Given the description of an element on the screen output the (x, y) to click on. 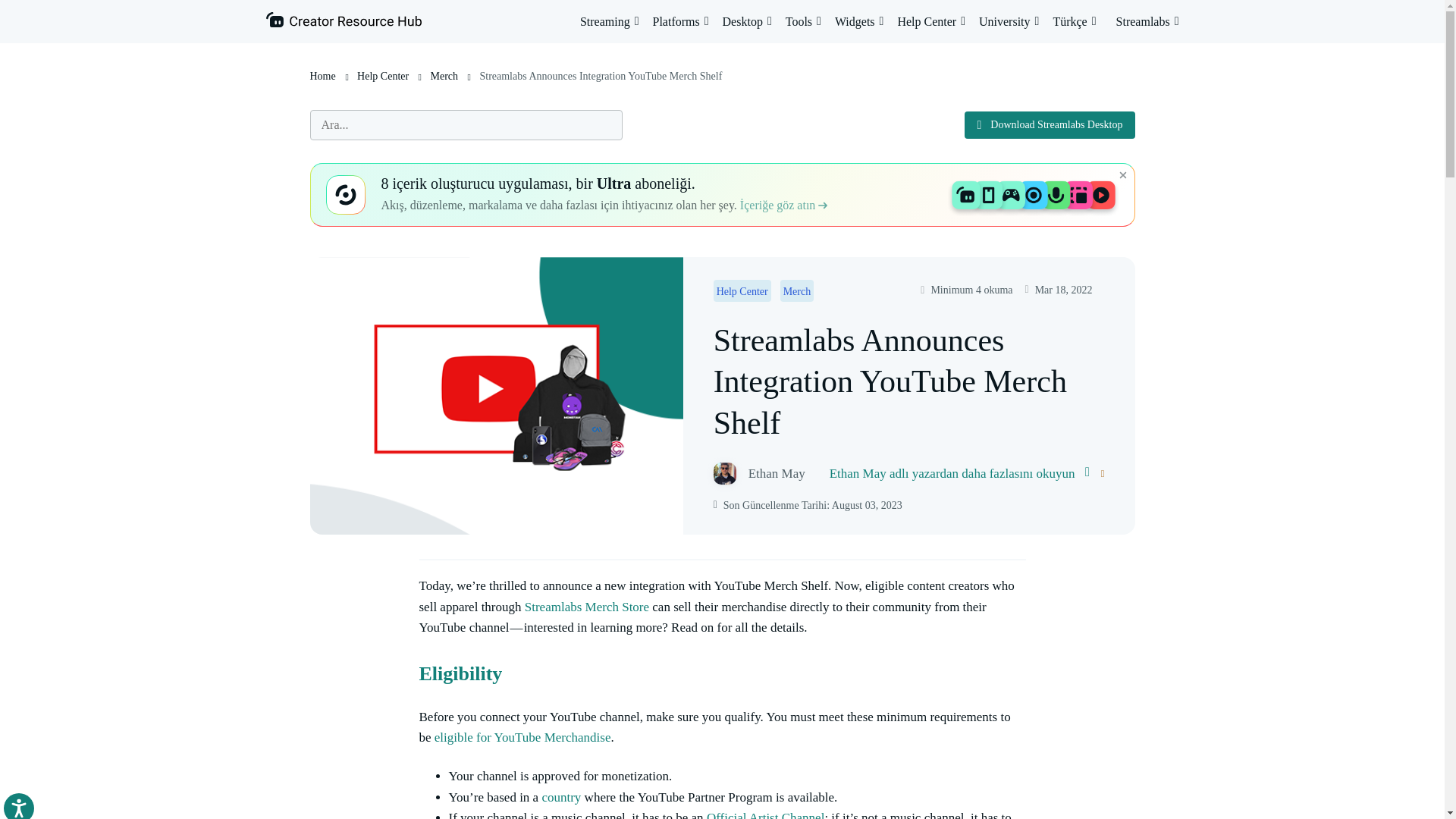
Platforms (679, 21)
Tools (803, 21)
Streaming (609, 21)
Desktop (746, 21)
Accessibility (34, 806)
Go to Streamlabs (1147, 21)
